Given the description of an element on the screen output the (x, y) to click on. 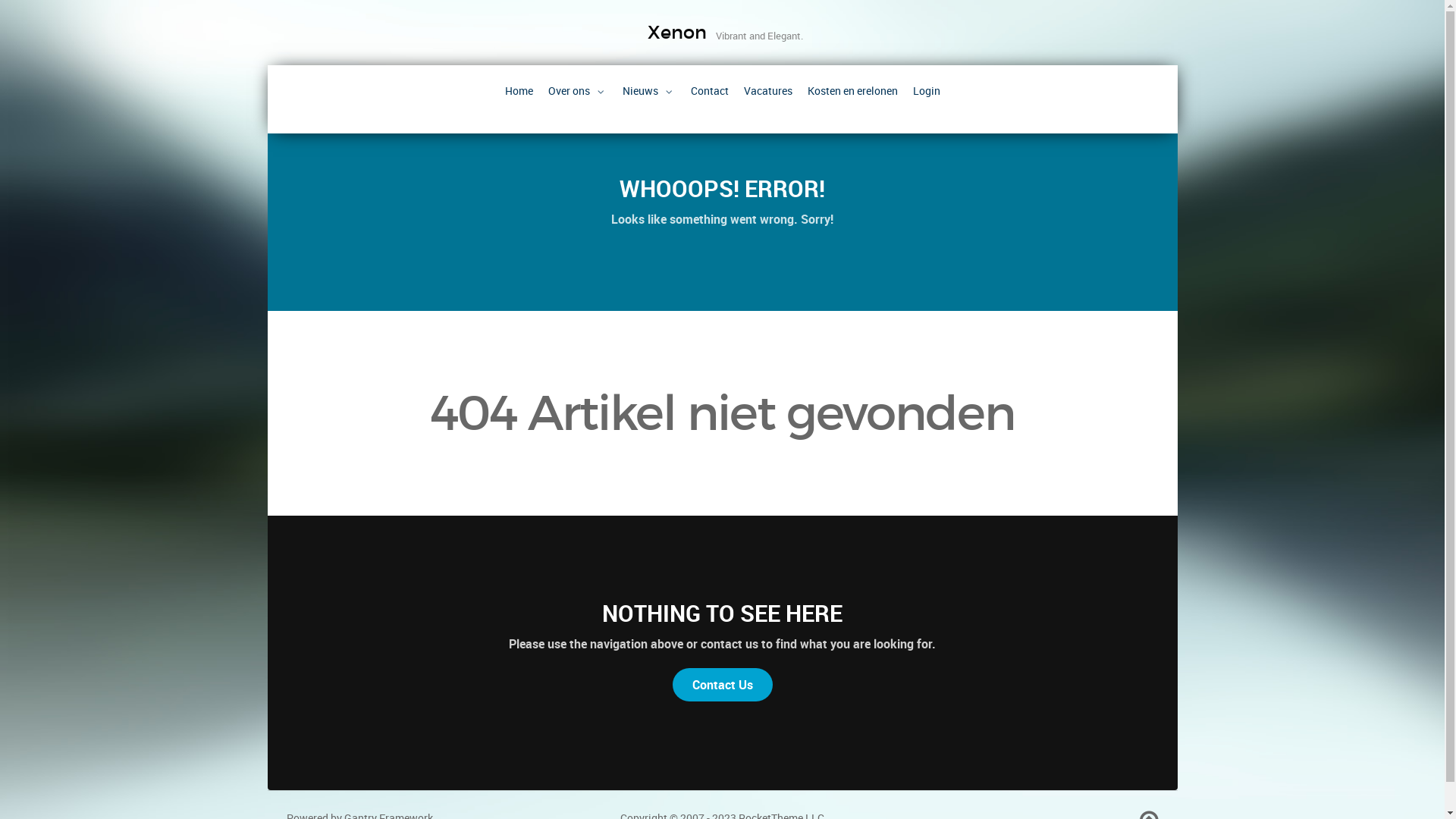
Nieuws Element type: text (647, 90)
NOTHING TO SEE HERE Element type: text (722, 612)
Over ons Element type: text (576, 90)
Kosten en erelonen Element type: text (851, 90)
Xenon Vibrant and Elegant. Element type: text (721, 30)
Contact Element type: text (709, 90)
Login Element type: text (926, 90)
Vacatures Element type: text (767, 90)
Home Element type: text (519, 90)
Contact Us Element type: text (721, 684)
